Given the description of an element on the screen output the (x, y) to click on. 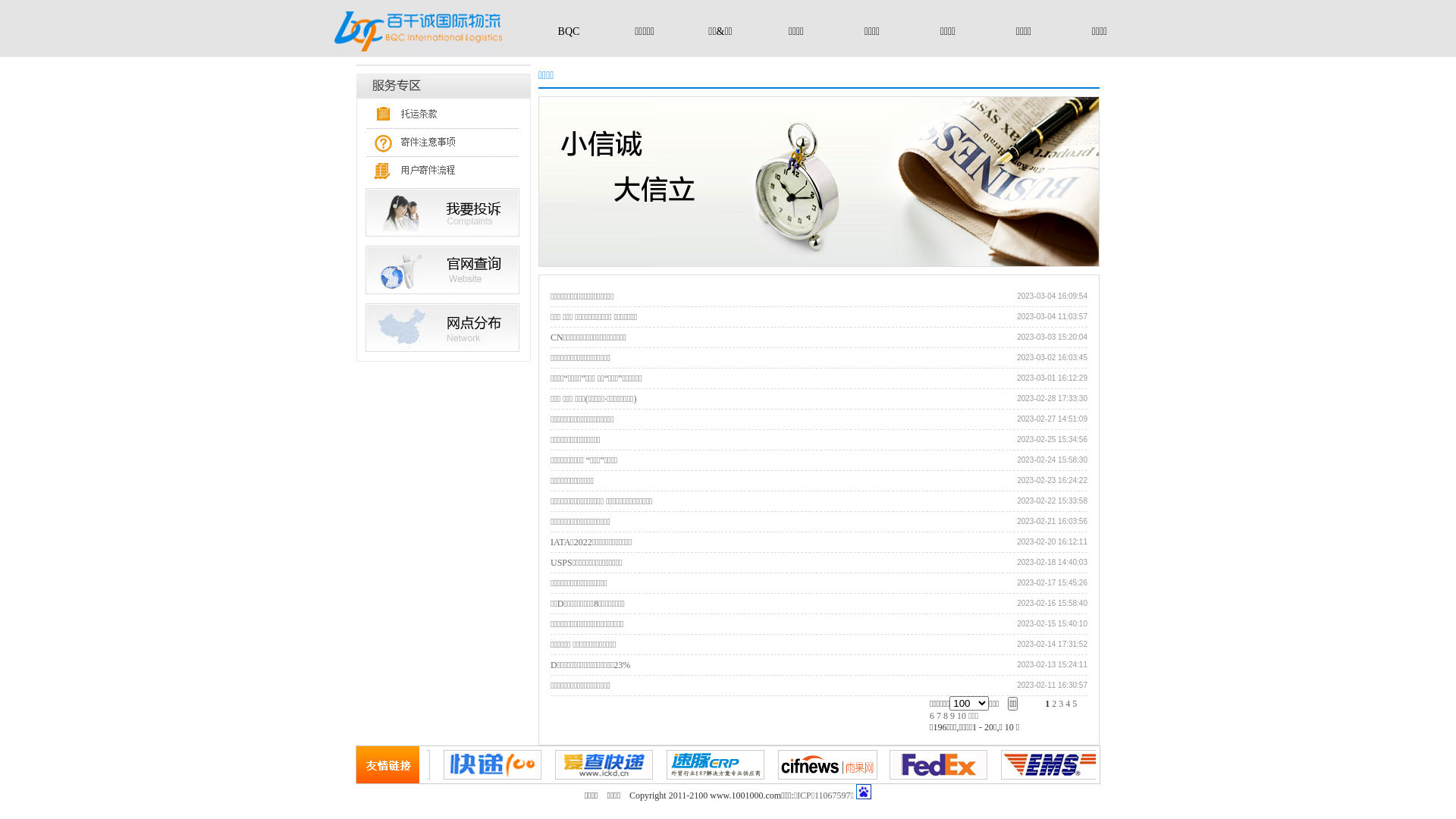
BQC Element type: text (568, 31)
6 Element type: text (931, 715)
4 Element type: text (1067, 703)
10 Element type: text (961, 715)
3 Element type: text (1060, 703)
5 Element type: text (1074, 703)
2 Element type: text (1053, 703)
7 Element type: text (938, 715)
9 Element type: text (952, 715)
8 Element type: text (945, 715)
